Given the description of an element on the screen output the (x, y) to click on. 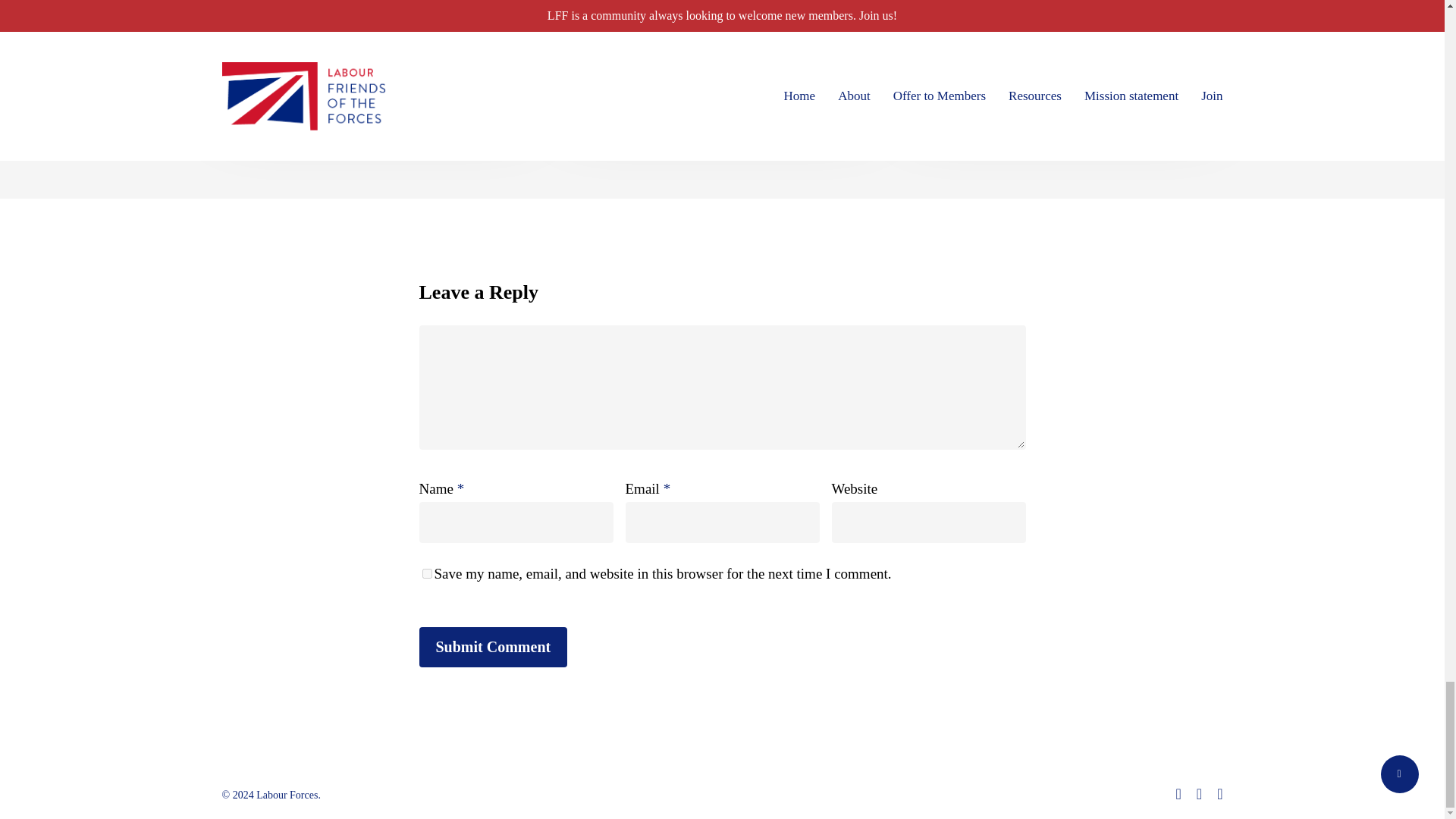
Submit Comment (493, 647)
yes (426, 573)
Submit Comment (493, 647)
